Given the description of an element on the screen output the (x, y) to click on. 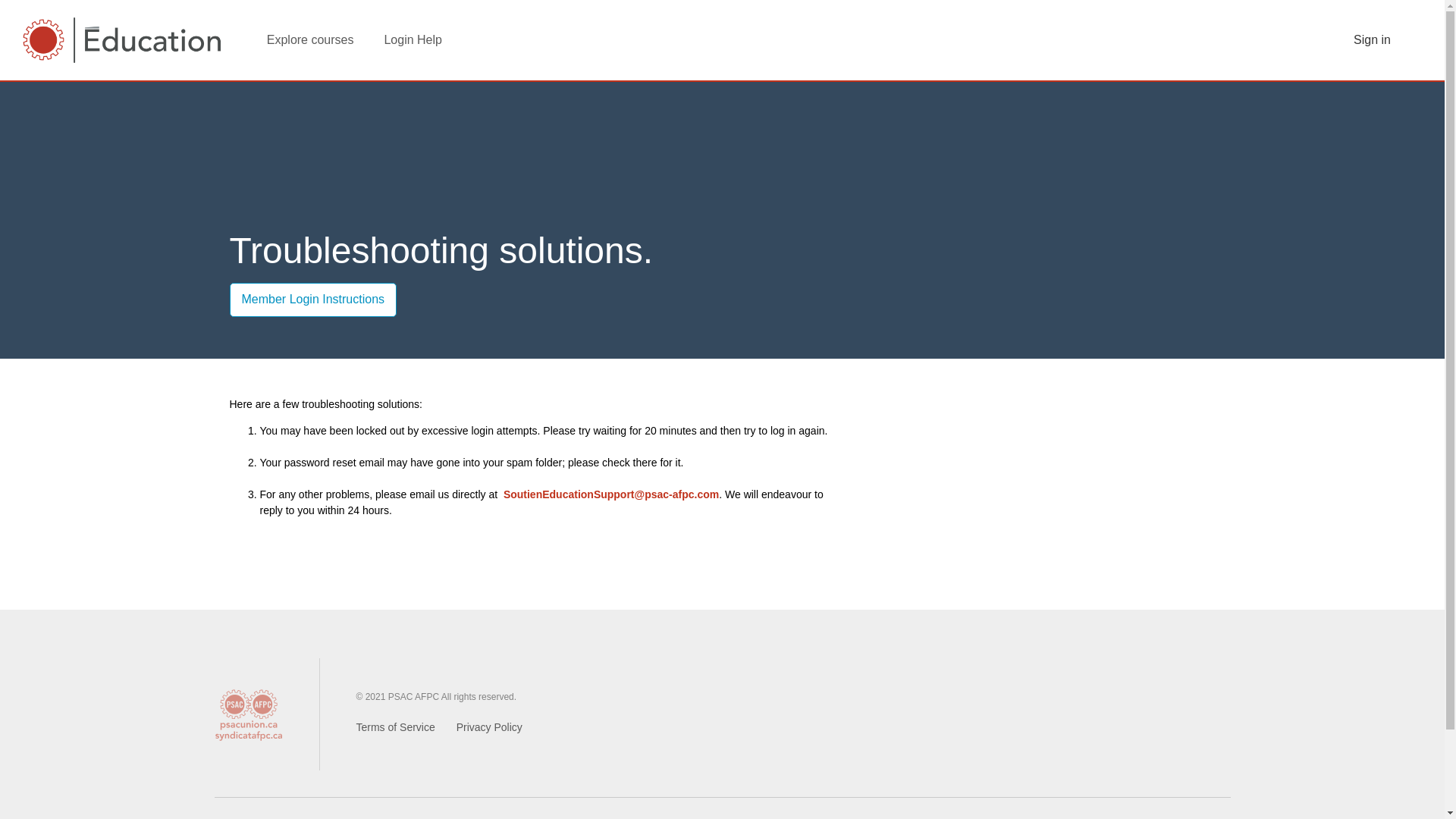
Member Login Instructions (312, 299)
Login Help (413, 39)
Privacy Policy (489, 727)
Terms of Service (395, 727)
Explore courses (309, 39)
Sign in (1372, 39)
